Given the description of an element on the screen output the (x, y) to click on. 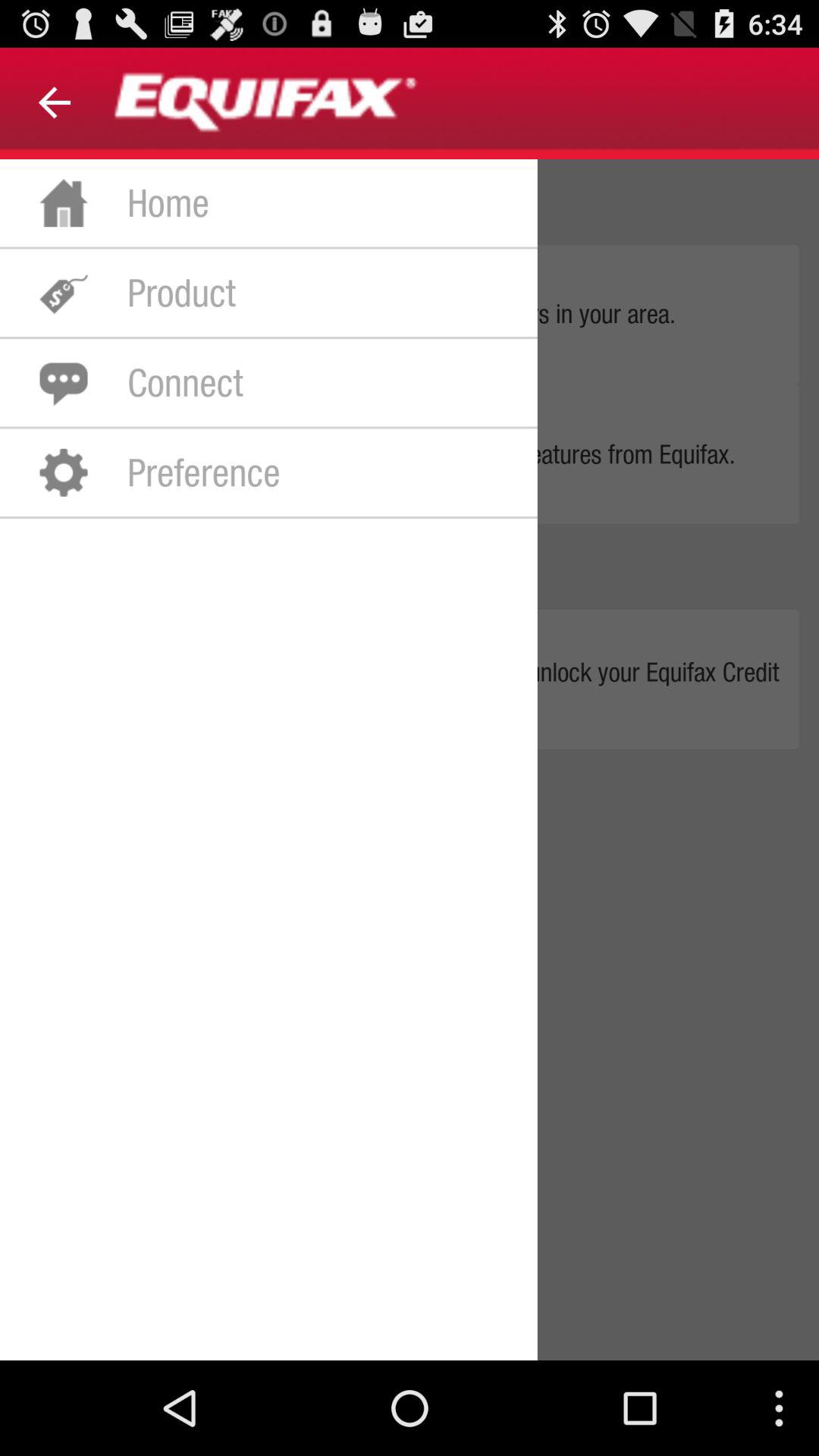
click on the icon which is to the left of preference (63, 472)
click on the box which is beside home (63, 203)
